Given the description of an element on the screen output the (x, y) to click on. 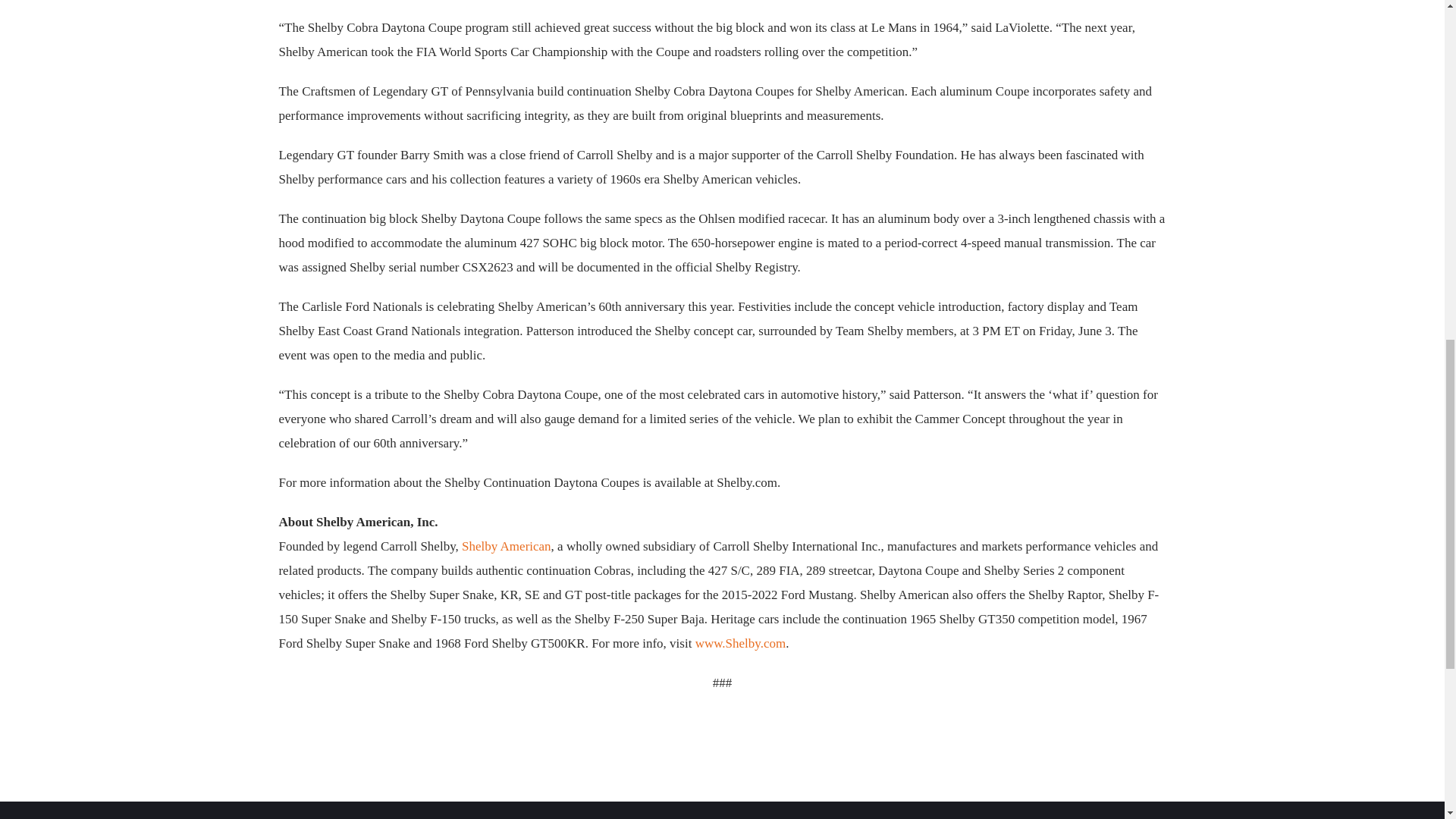
www.Shelby.com (740, 643)
Shelby American (506, 545)
